Given the description of an element on the screen output the (x, y) to click on. 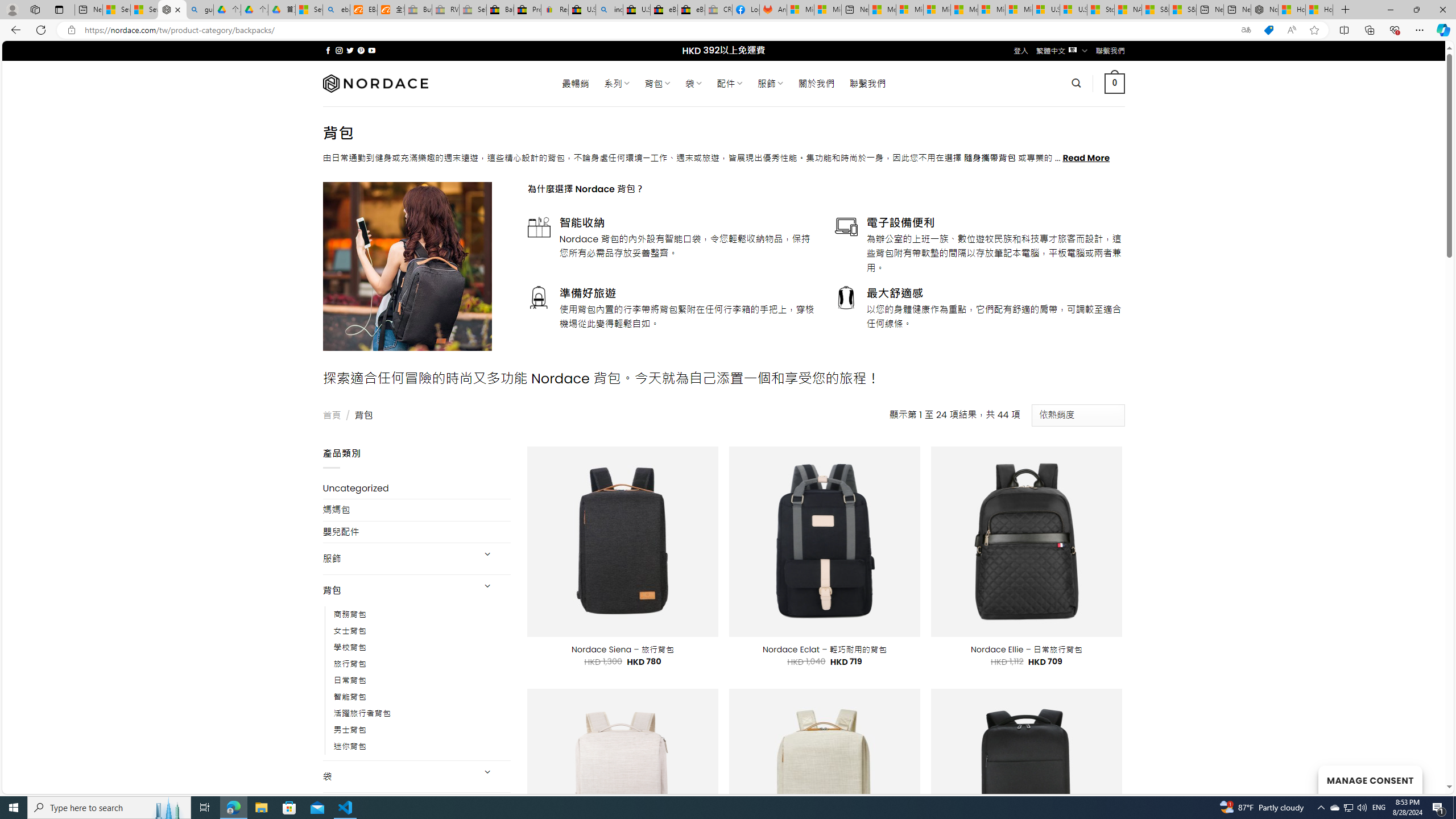
Show translate options (1245, 29)
